Given the description of an element on the screen output the (x, y) to click on. 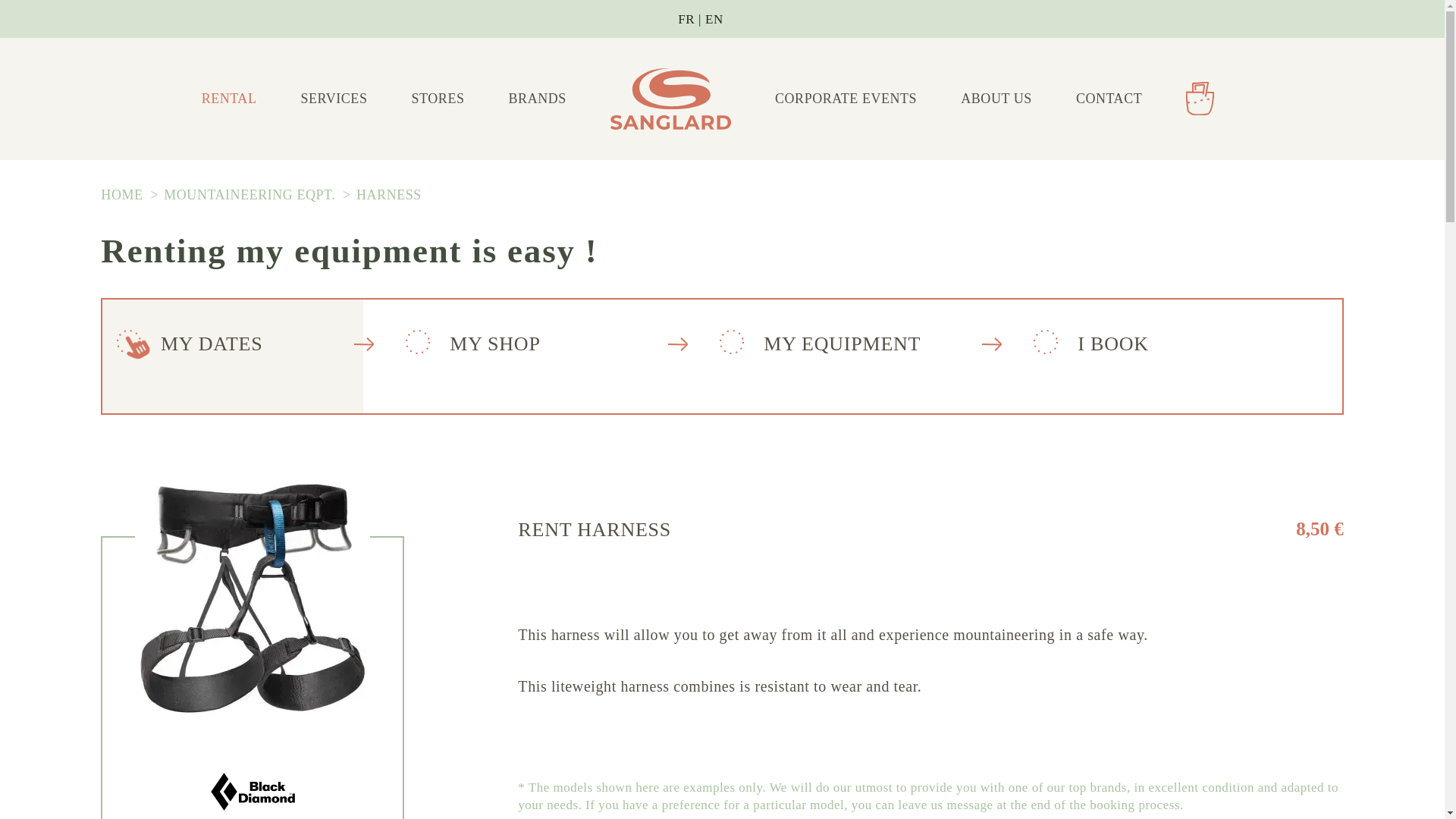
CONTACT (1108, 98)
EN (713, 18)
STORES (438, 98)
BRANDS (537, 98)
black-diamond-harnais-momentum.jpg (252, 597)
MOUNTAINEERING EQPT. (251, 194)
HOME (123, 194)
CORPORATE EVENTS (845, 98)
FR (691, 18)
RENTAL (229, 98)
Black diamond.png (253, 791)
ABOUT US (996, 98)
SERVICES (334, 98)
